Given the description of an element on the screen output the (x, y) to click on. 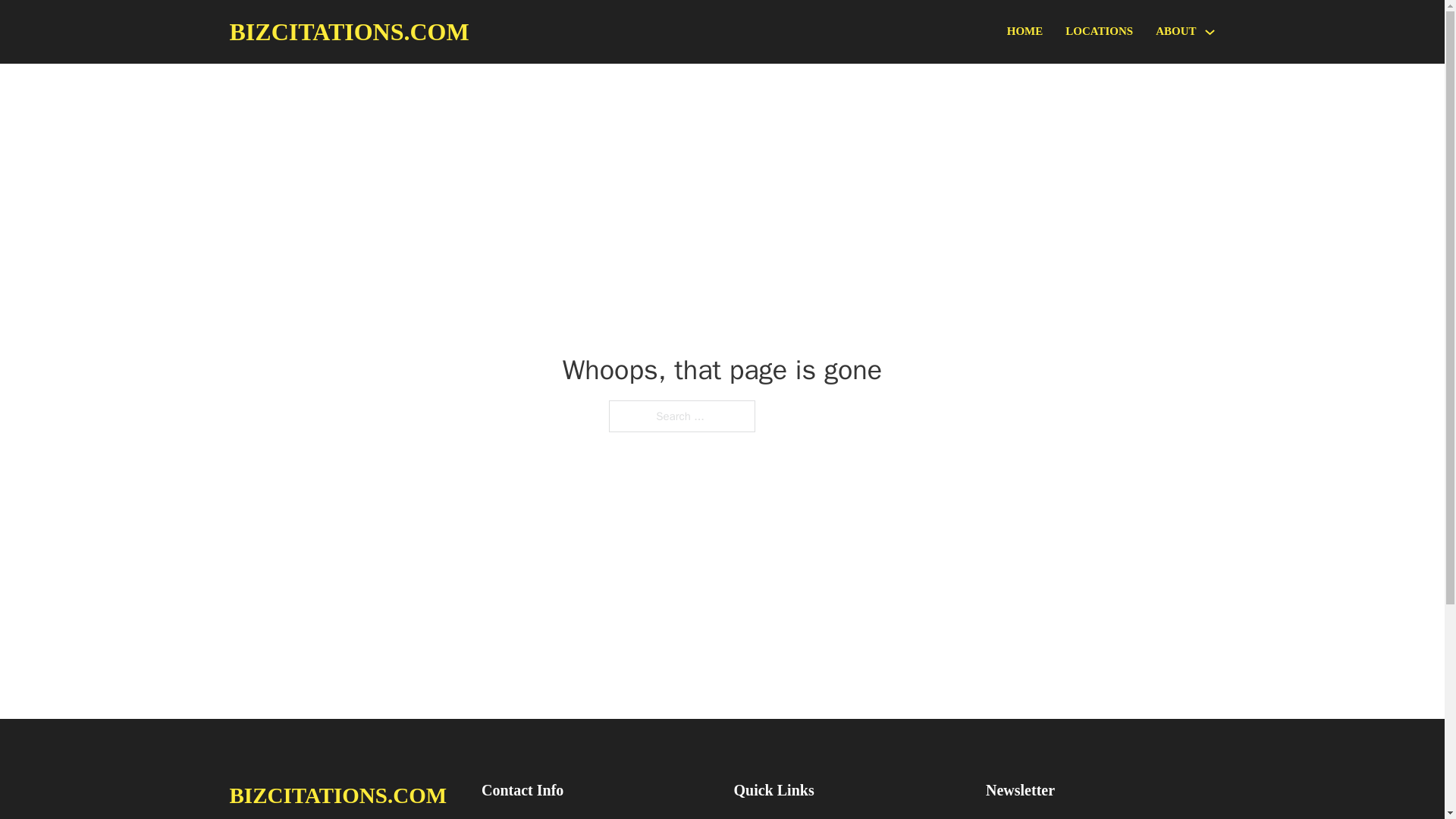
LOCATIONS (1098, 31)
BIZCITATIONS.COM (348, 31)
BIZCITATIONS.COM (337, 795)
HOME (1025, 31)
